Given the description of an element on the screen output the (x, y) to click on. 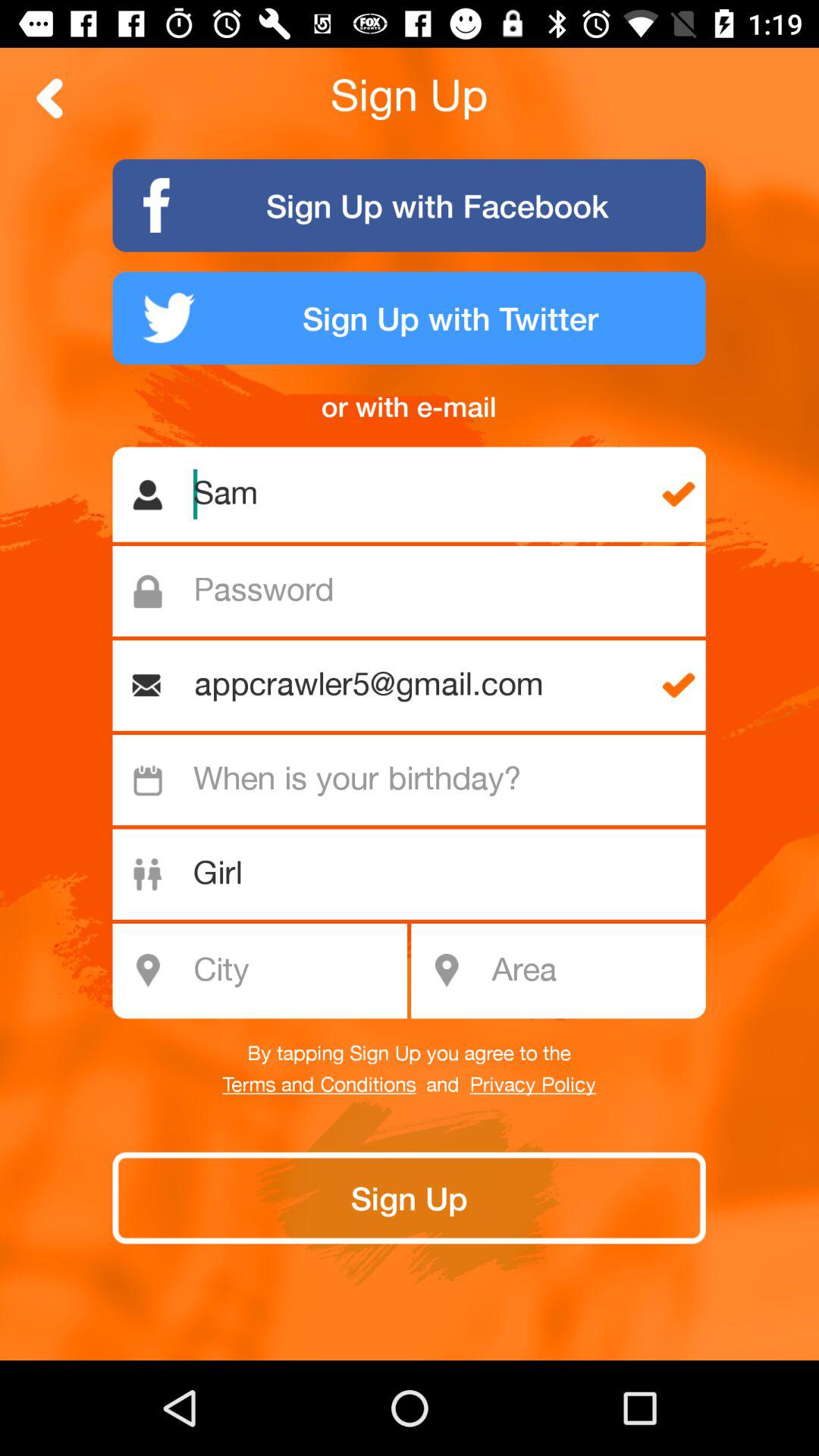
enter area (593, 970)
